Given the description of an element on the screen output the (x, y) to click on. 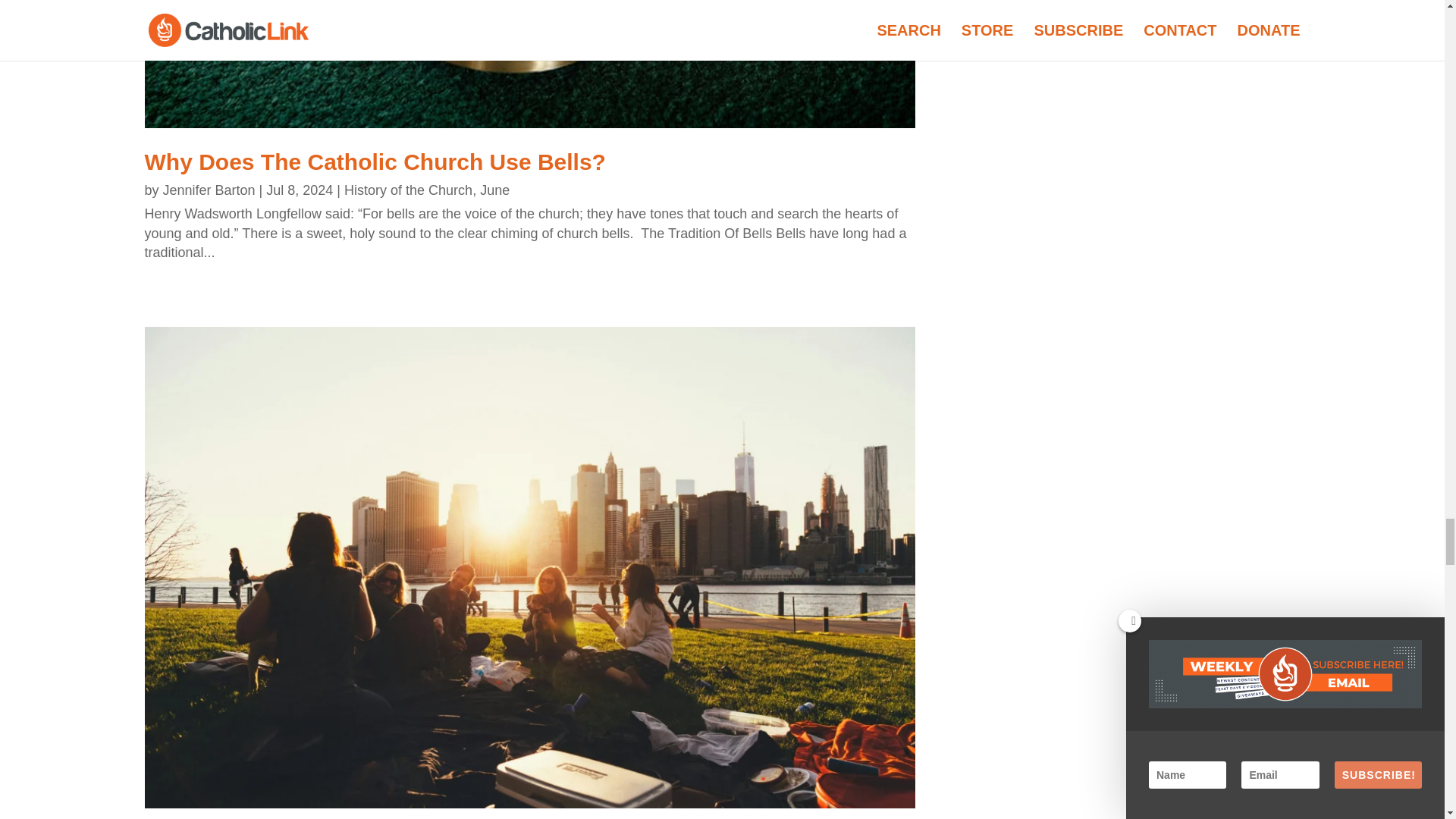
Posts by Jennifer Barton (209, 190)
